Given the description of an element on the screen output the (x, y) to click on. 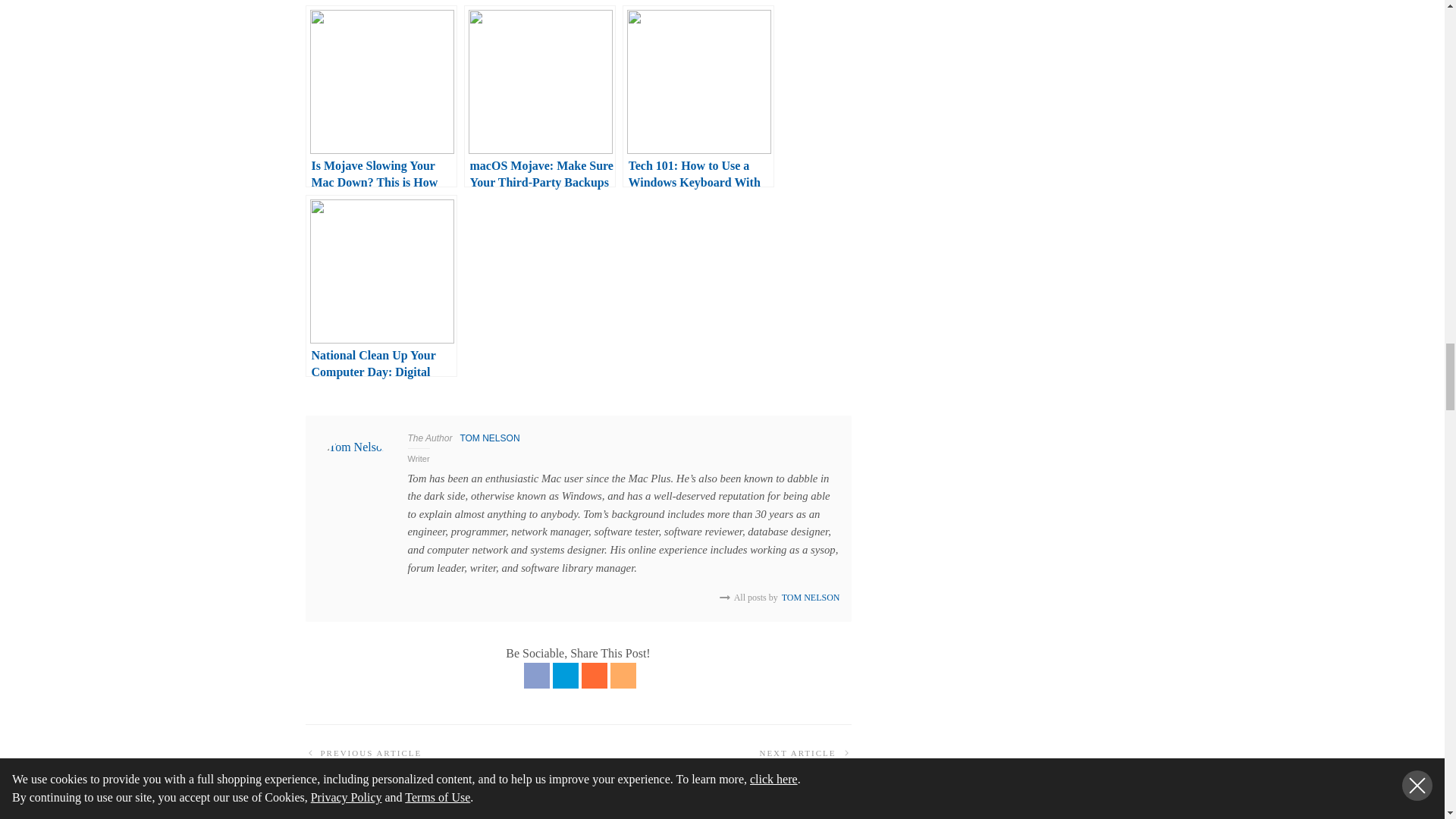
A Guide to New Features in the macOS Mojave Safari Browser (414, 783)
